Given the description of an element on the screen output the (x, y) to click on. 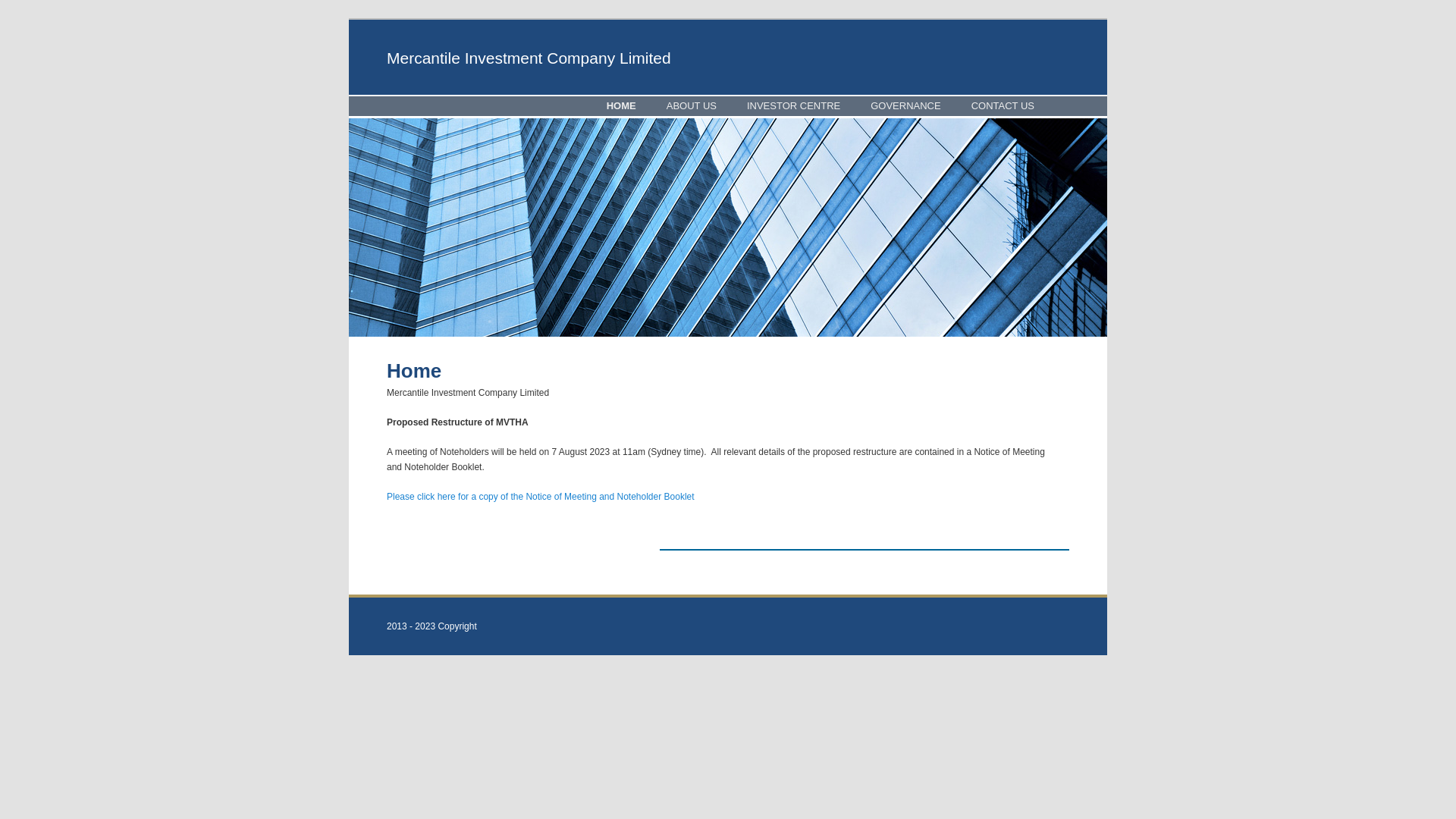
INVESTOR CENTRE Element type: text (793, 106)
SKIP TO PRIMARY CONTENT Element type: text (484, 105)
Mercantile Investment Company Limited  Element type: text (530, 57)
SKIP TO SECONDARY CONTENT Element type: text (492, 105)
HOME Element type: text (621, 106)
GOVERNANCE Element type: text (905, 106)
ABOUT US Element type: text (691, 106)
CONTACT US Element type: text (1002, 106)
